Given the description of an element on the screen output the (x, y) to click on. 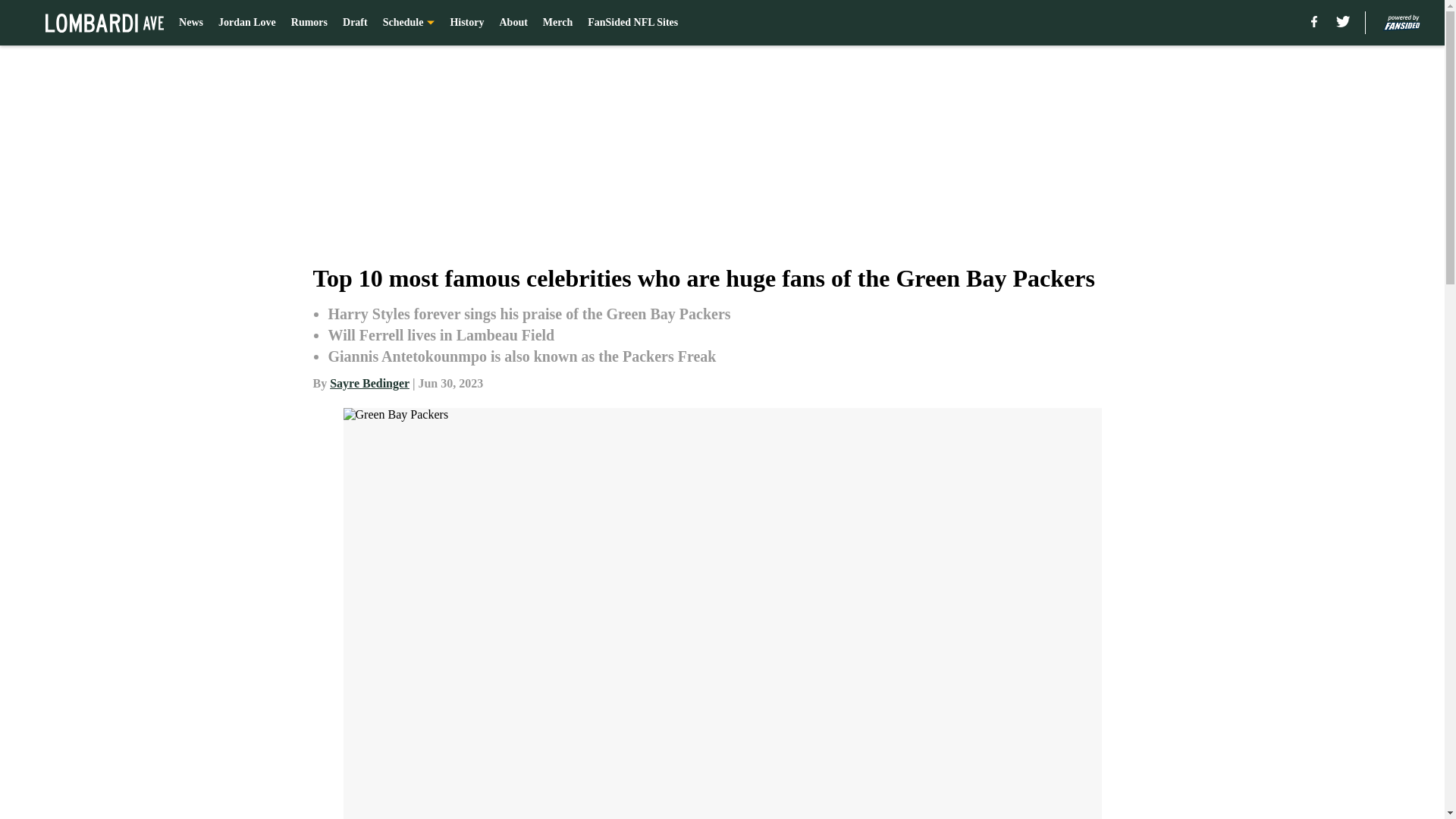
Draft (355, 22)
Rumors (309, 22)
History (466, 22)
Sayre Bedinger (369, 382)
News (191, 22)
FanSided NFL Sites (633, 22)
Merch (557, 22)
Jordan Love (247, 22)
About (513, 22)
